Given the description of an element on the screen output the (x, y) to click on. 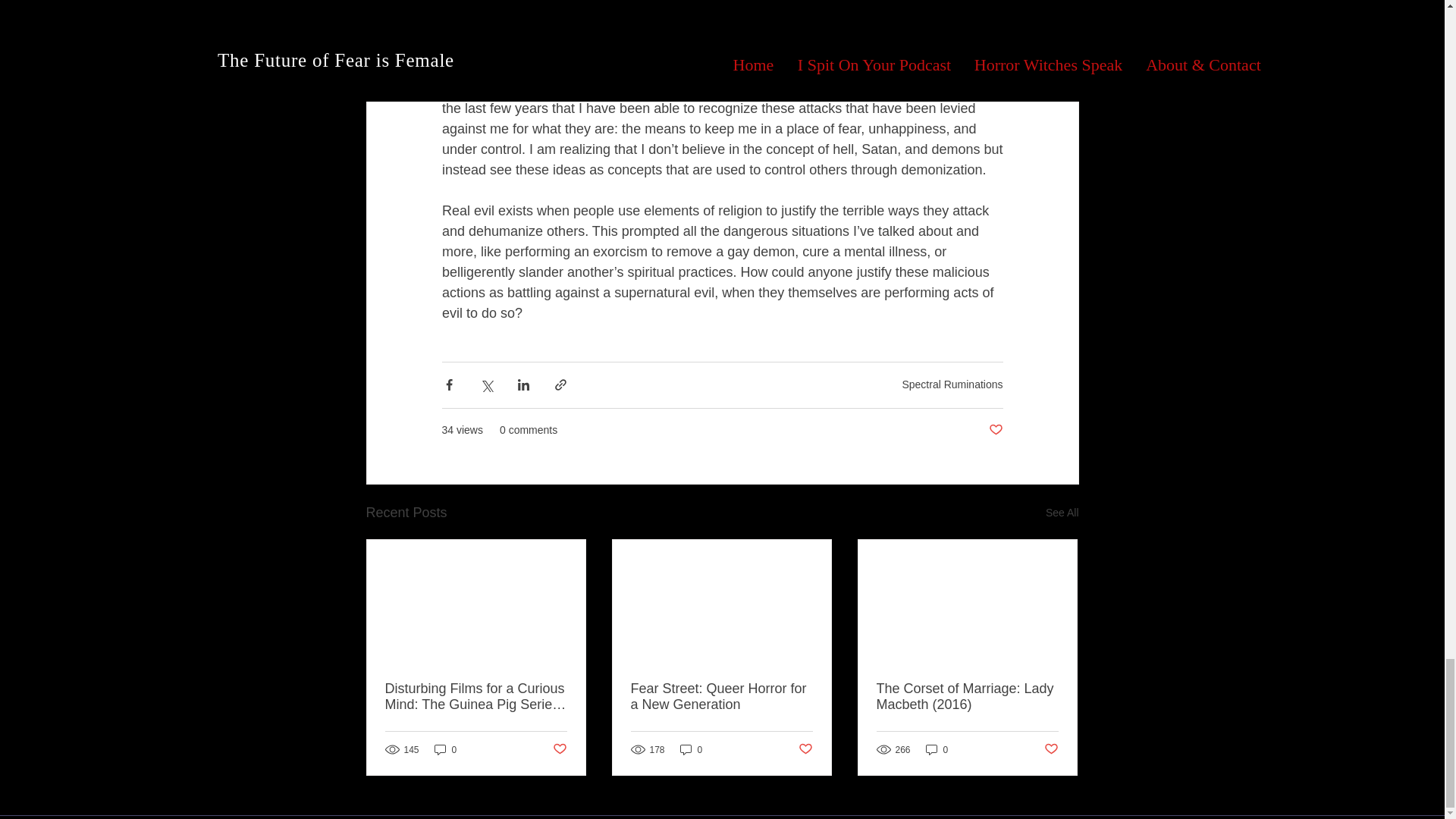
0 (445, 749)
Post not marked as liked (995, 430)
Spectral Ruminations (952, 384)
Post not marked as liked (558, 749)
0 (691, 749)
Post not marked as liked (1050, 749)
Fear Street: Queer Horror for a New Generation (721, 696)
0 (937, 749)
Post not marked as liked (804, 749)
See All (1061, 513)
